Given the description of an element on the screen output the (x, y) to click on. 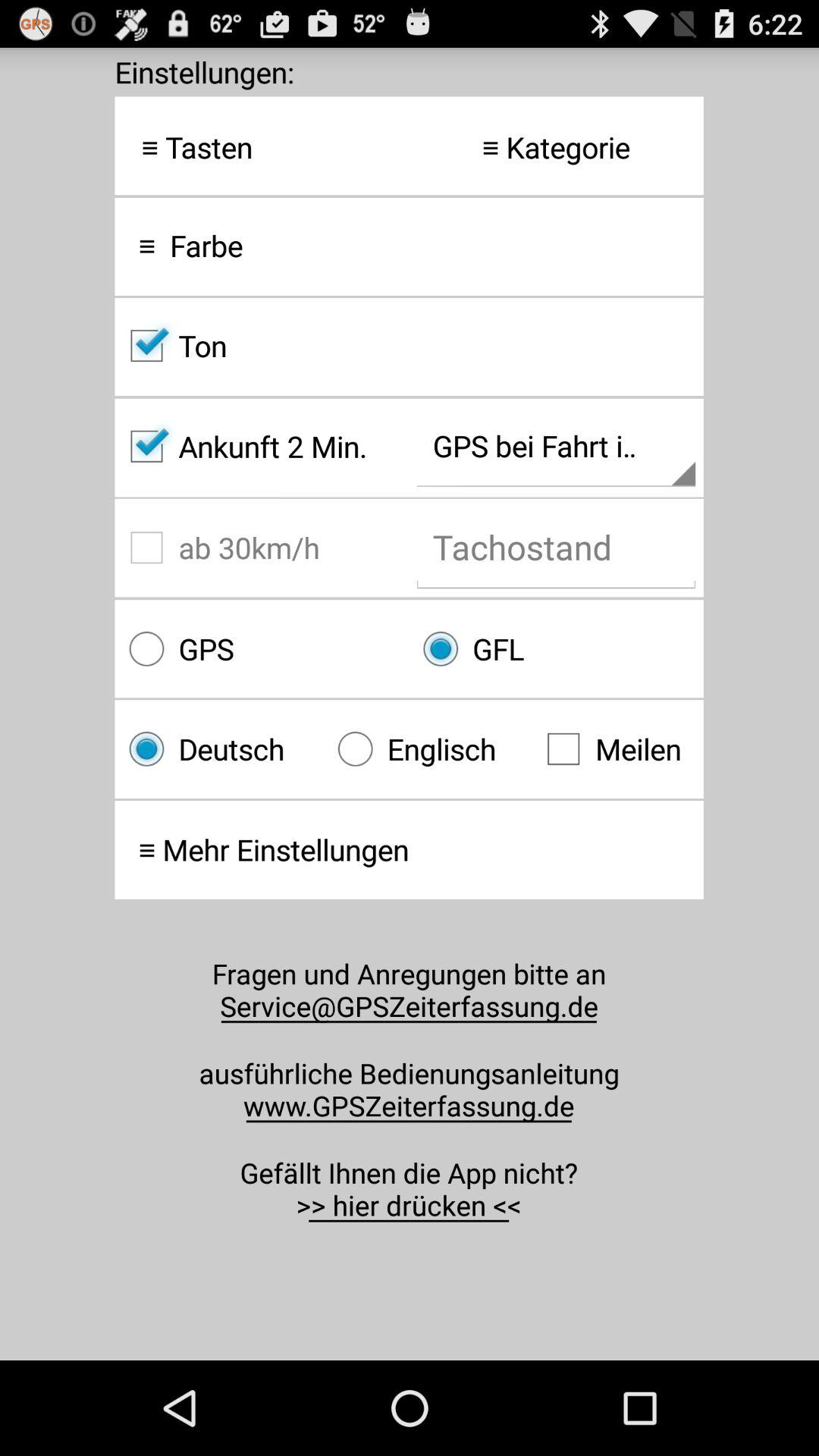
tap the icon below the gfl item (617, 748)
